Given the description of an element on the screen output the (x, y) to click on. 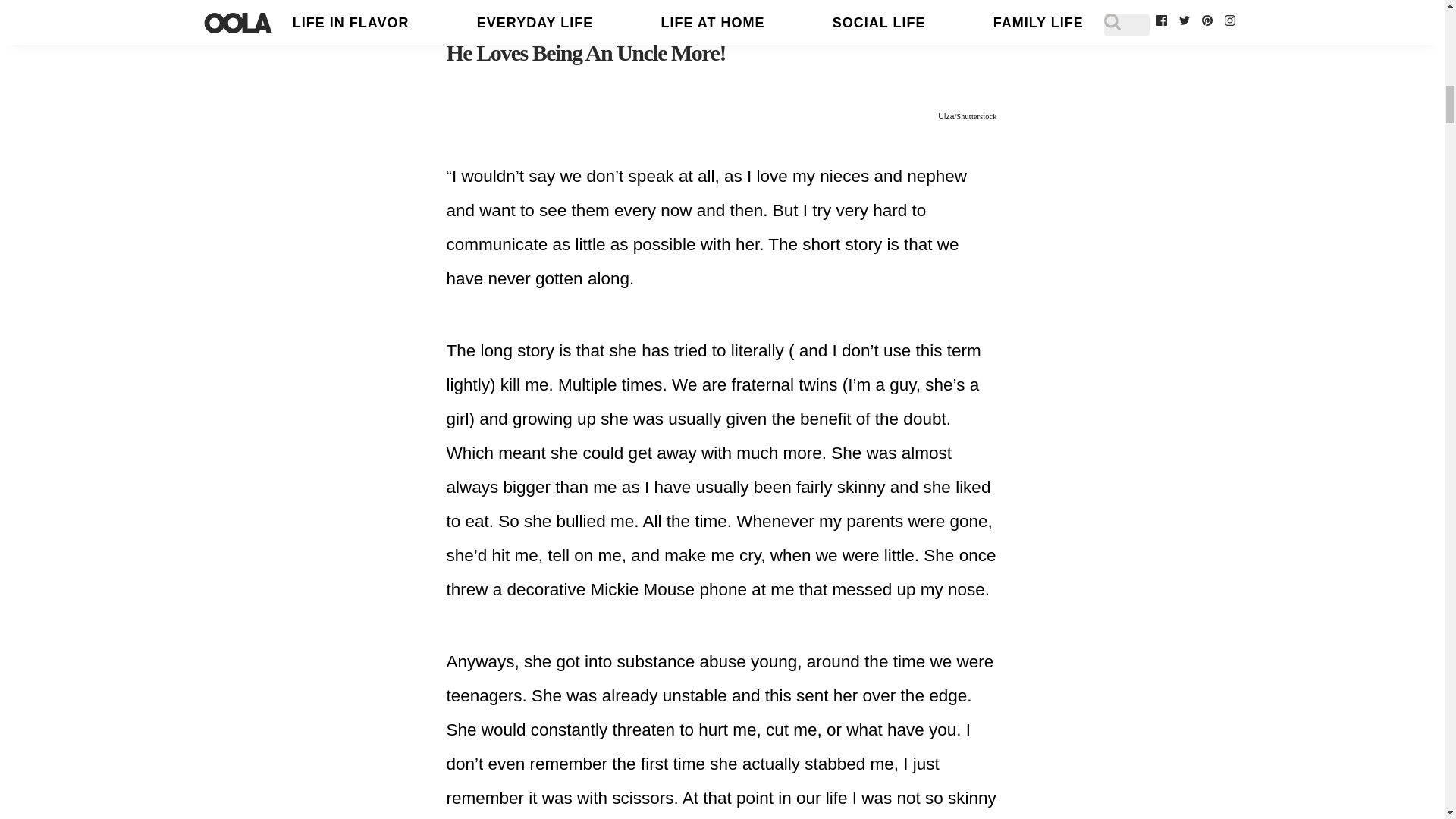
Ulza (947, 116)
